Given the description of an element on the screen output the (x, y) to click on. 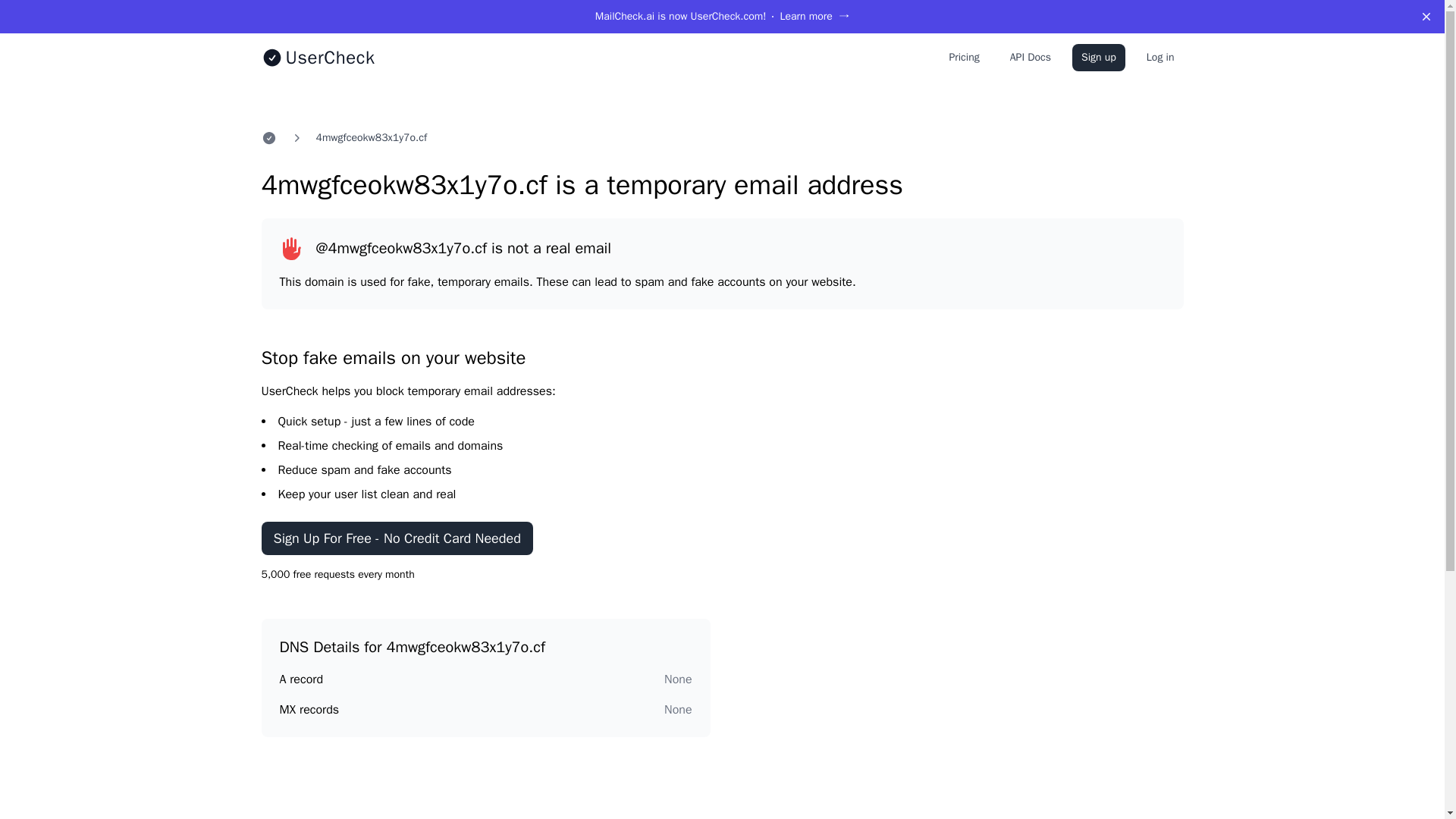
API Docs (1030, 57)
4mwgfceokw83x1y7o.cf (370, 137)
Pricing (963, 57)
Sign Up For Free - No Credit Card Needed (396, 538)
UserCheck (317, 57)
Sign up (1098, 57)
Log in (1160, 57)
Home (268, 137)
Dismiss (1425, 16)
